Given the description of an element on the screen output the (x, y) to click on. 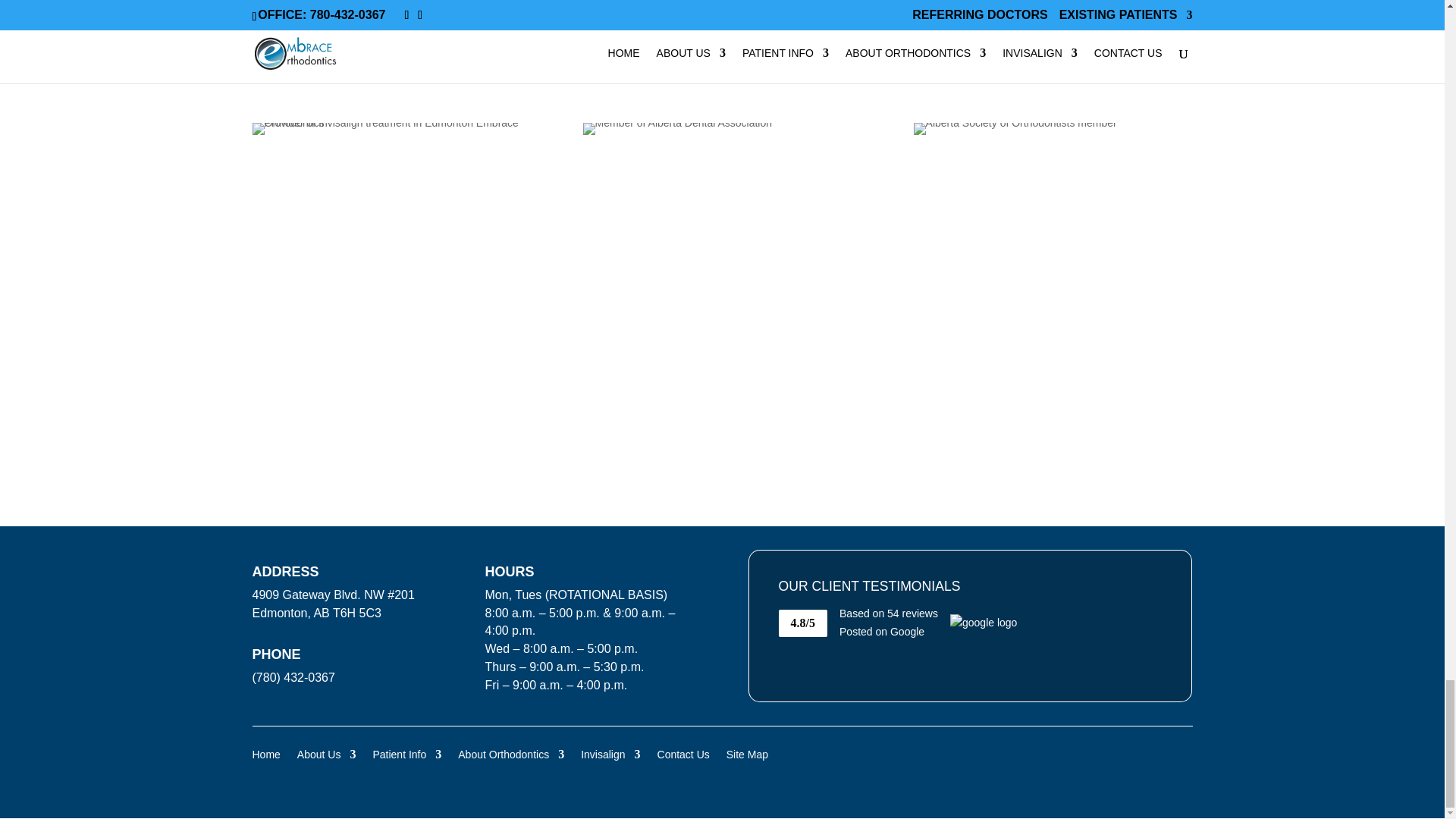
alberta-dental-association (677, 128)
About Us (326, 751)
Patient Info (406, 751)
invisalign-treatment (391, 128)
About Orthodontics (511, 751)
Home (265, 751)
alberta-society-of-orthodontists (1015, 128)
